Given the description of an element on the screen output the (x, y) to click on. 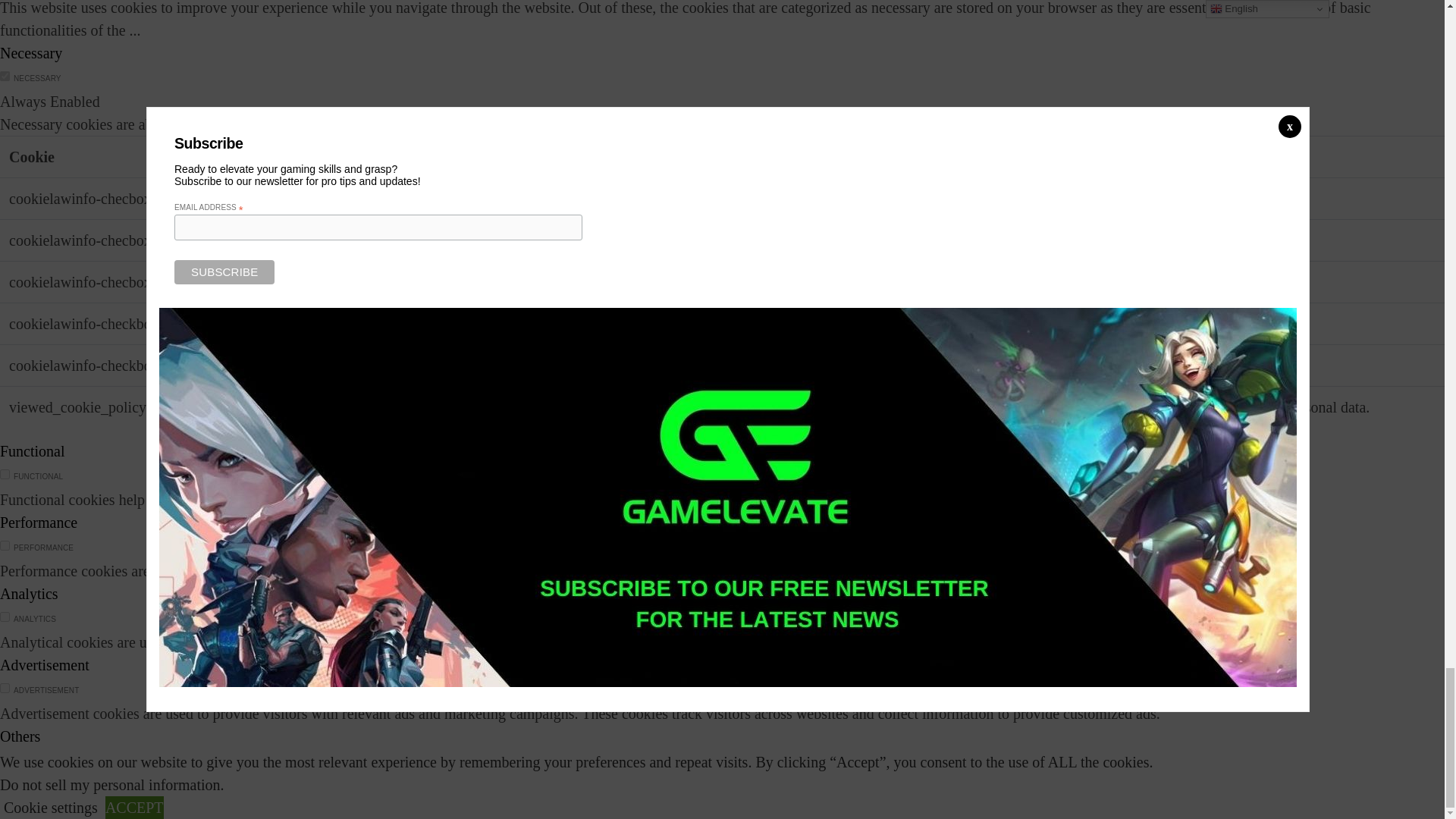
on (5, 545)
on (5, 687)
on (5, 474)
on (5, 616)
on (5, 759)
on (5, 76)
